Given the description of an element on the screen output the (x, y) to click on. 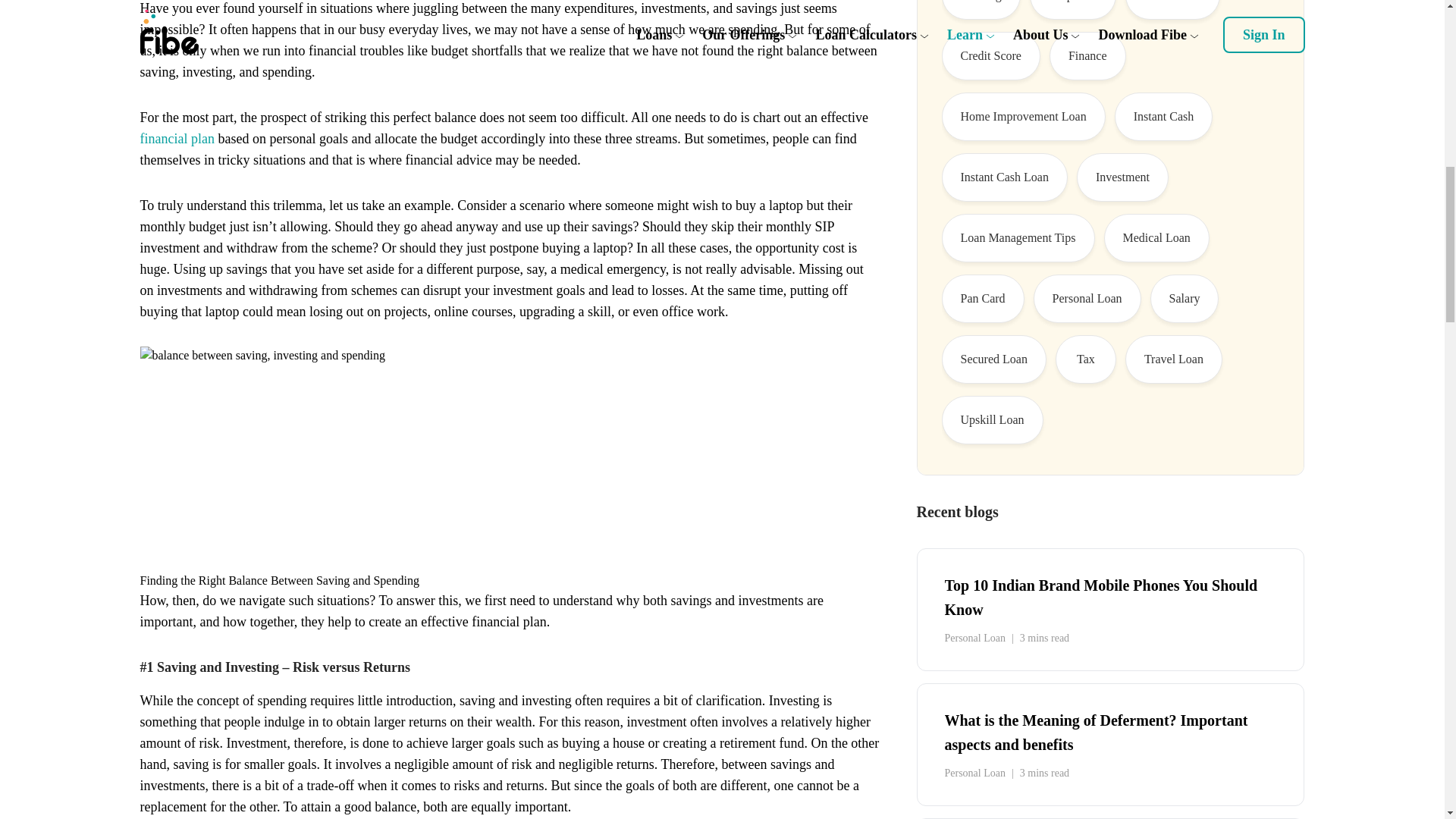
financial plan (176, 138)
